Given the description of an element on the screen output the (x, y) to click on. 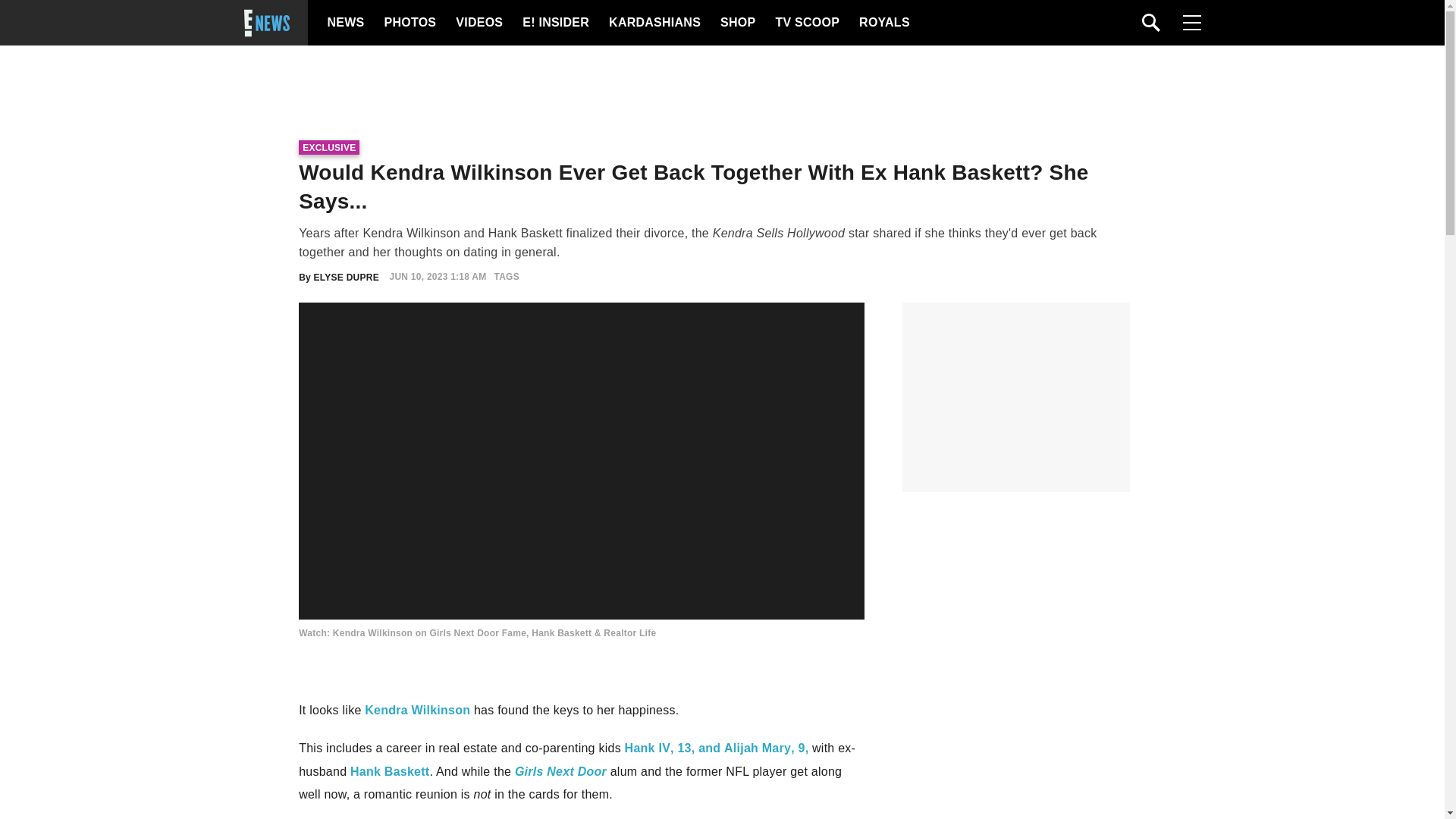
NEWS (345, 22)
VIDEOS (478, 22)
KARDASHIANS (653, 22)
 Hank IV, 13, and Alijah Mary, 9,  (716, 748)
Hank Baskett (389, 771)
TV SCOOP (806, 22)
Girls Next Door (561, 771)
E! INSIDER (555, 22)
Kendra Wilkinson (417, 709)
ELYSE DUPRE (346, 276)
ROYALS (883, 22)
SHOP (737, 22)
PHOTOS (408, 22)
